Given the description of an element on the screen output the (x, y) to click on. 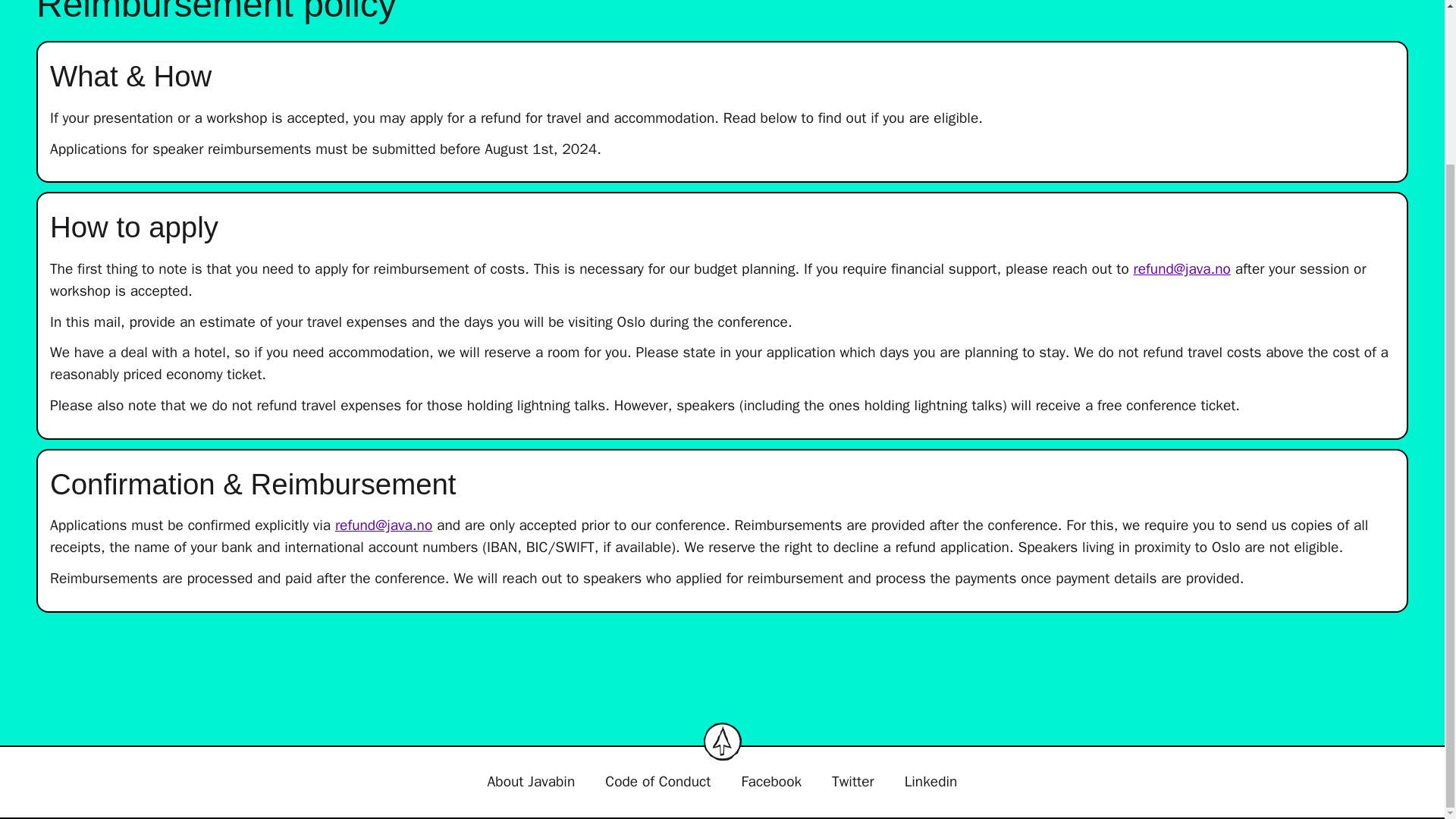
Code of Conduct (657, 782)
Linkedin (931, 782)
About Javabin (531, 782)
Twitter (853, 782)
Facebook (771, 782)
